Given the description of an element on the screen output the (x, y) to click on. 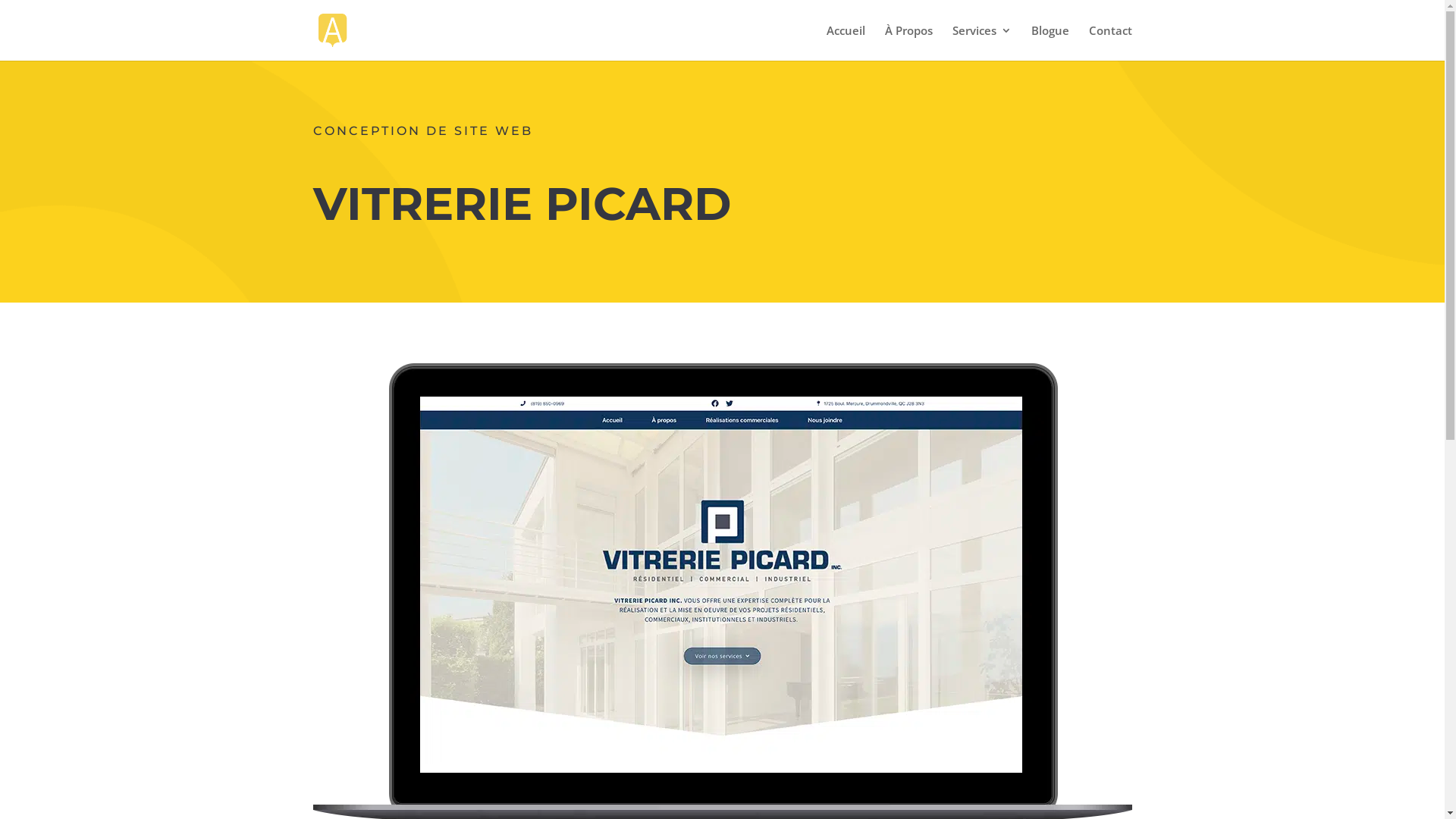
Accueil Element type: text (845, 42)
Blogue Element type: text (1050, 42)
Contact Element type: text (1110, 42)
Services Element type: text (981, 42)
